Given the description of an element on the screen output the (x, y) to click on. 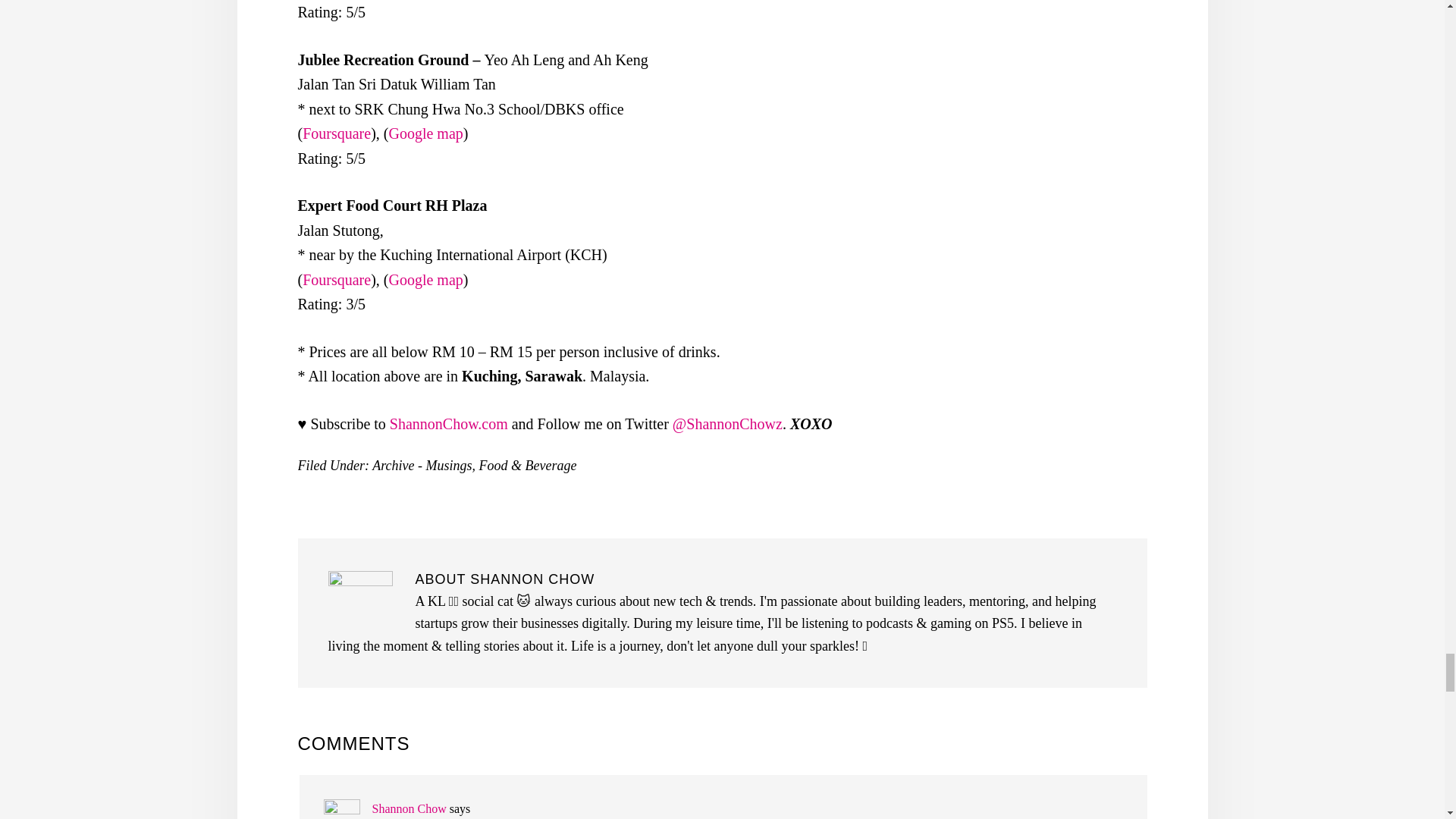
Google map (425, 133)
Foursquare (336, 279)
Google map (425, 279)
Foursquare (336, 133)
